Given the description of an element on the screen output the (x, y) to click on. 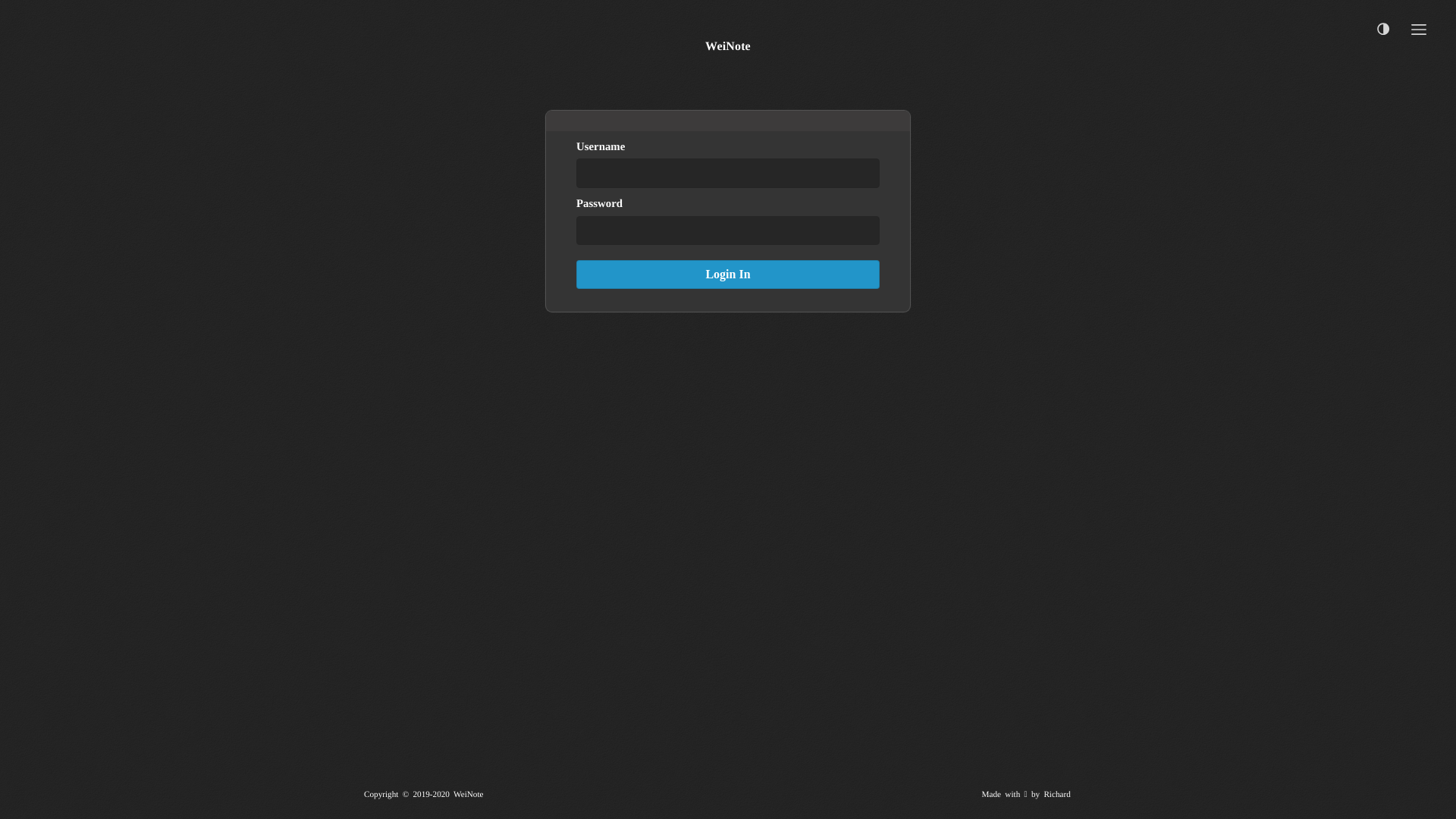
WeiNote Element type: text (728, 46)
WeiNote Element type: text (468, 794)
Login In Element type: text (727, 274)
